Given the description of an element on the screen output the (x, y) to click on. 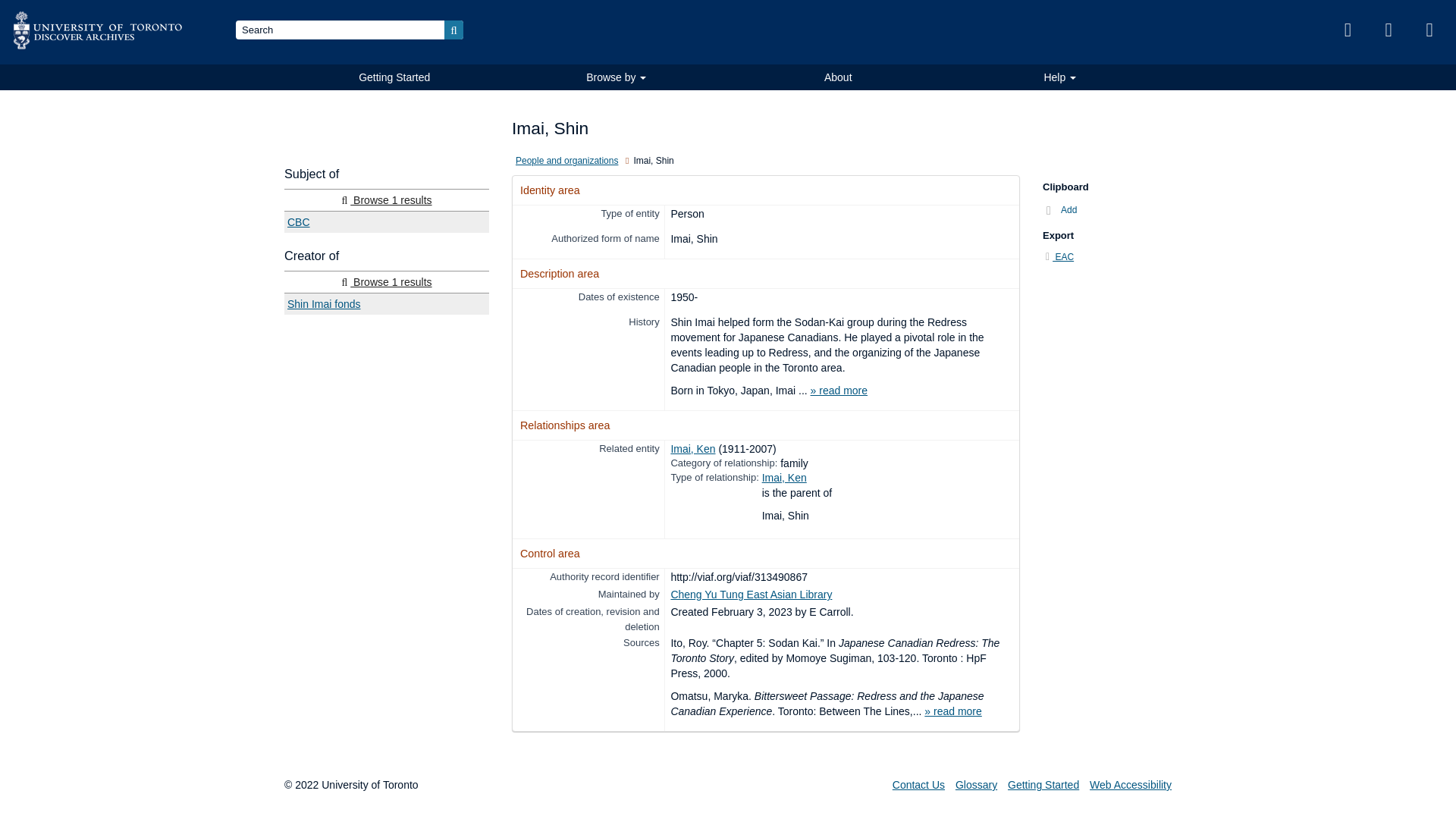
Imai, Ken (783, 477)
Getting Started (394, 77)
Clipboard (1347, 30)
About (838, 77)
Language (1388, 30)
Shin Imai fonds (386, 303)
Browse by (616, 77)
Help (1429, 30)
Help (1059, 77)
Cheng Yu Tung East Asian Library (750, 594)
